Given the description of an element on the screen output the (x, y) to click on. 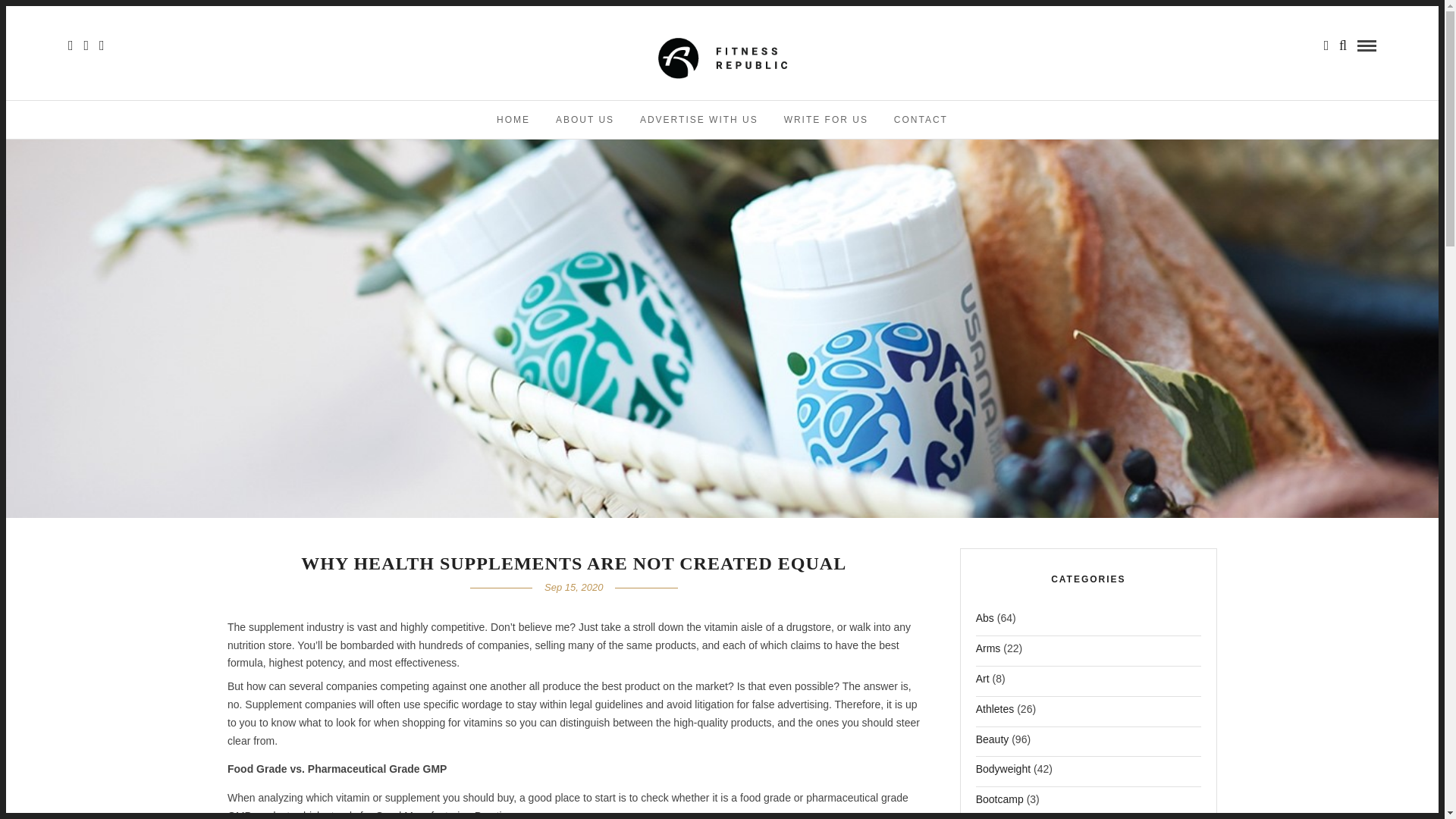
ADVERTISE WITH US (699, 119)
Athletes (994, 713)
CONTACT (920, 119)
Beauty (992, 743)
WRITE FOR US (826, 119)
Arms (988, 652)
ABOUT US (585, 119)
Bootcamp (999, 803)
HOME (512, 119)
Bodyweight (1002, 773)
